Given the description of an element on the screen output the (x, y) to click on. 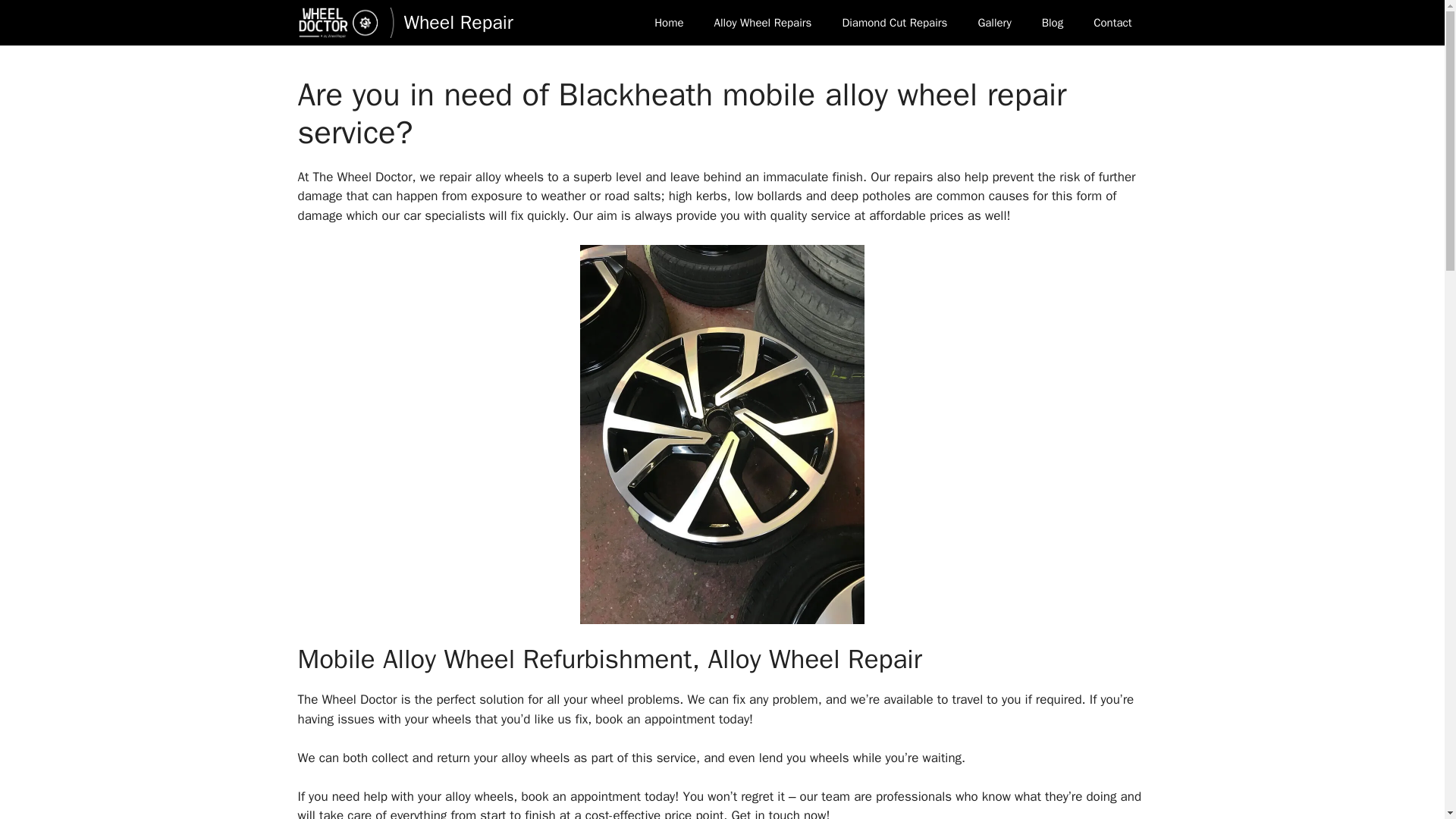
Blog (1052, 22)
Alloy Wheel Repairs (762, 22)
Home (668, 22)
Wheel Repair (346, 22)
Contact (1112, 22)
Gallery (994, 22)
Wheel Repair (457, 22)
Diamond Cut Repairs (894, 22)
